Given the description of an element on the screen output the (x, y) to click on. 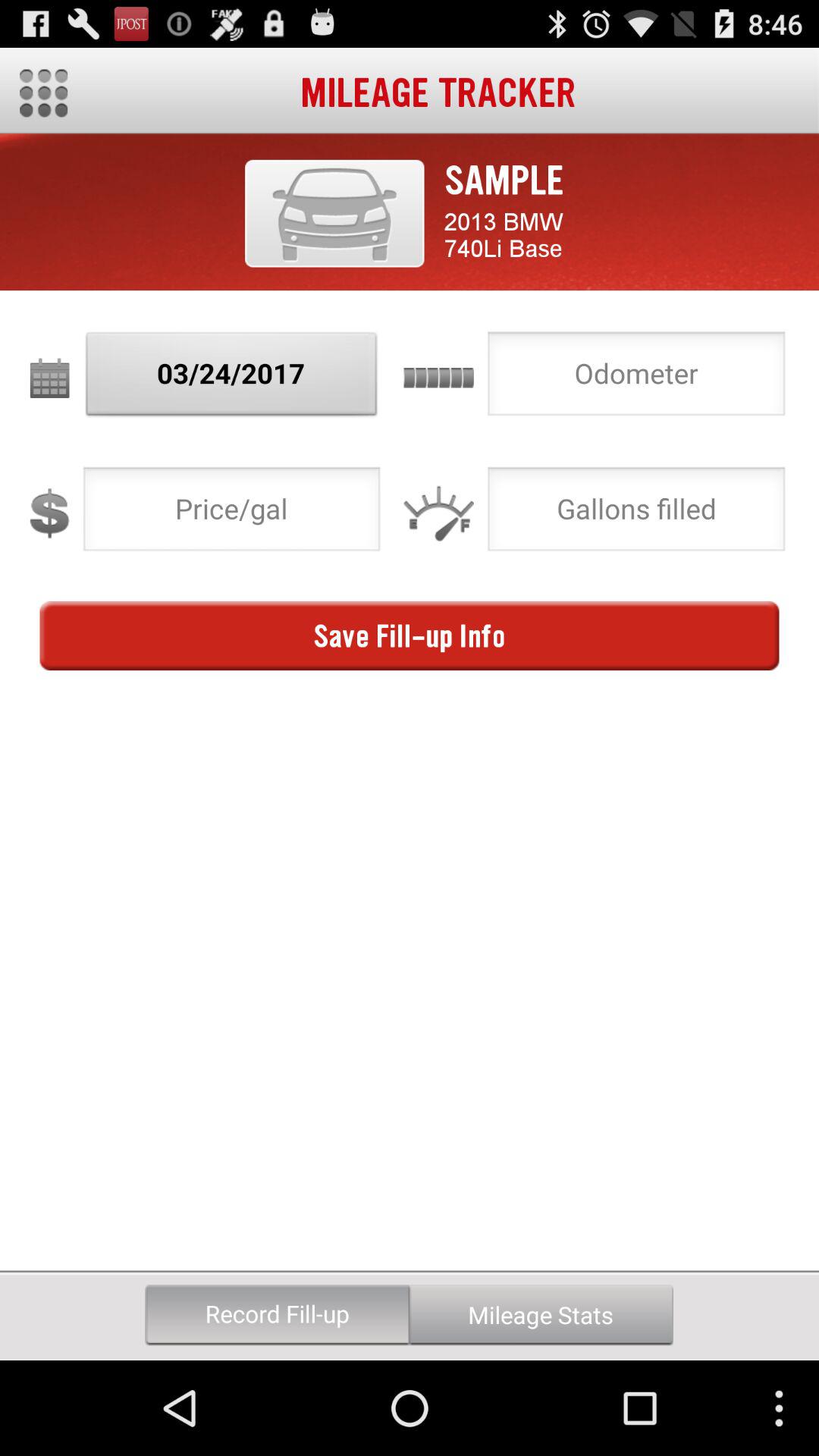
gallons filled (636, 513)
